Given the description of an element on the screen output the (x, y) to click on. 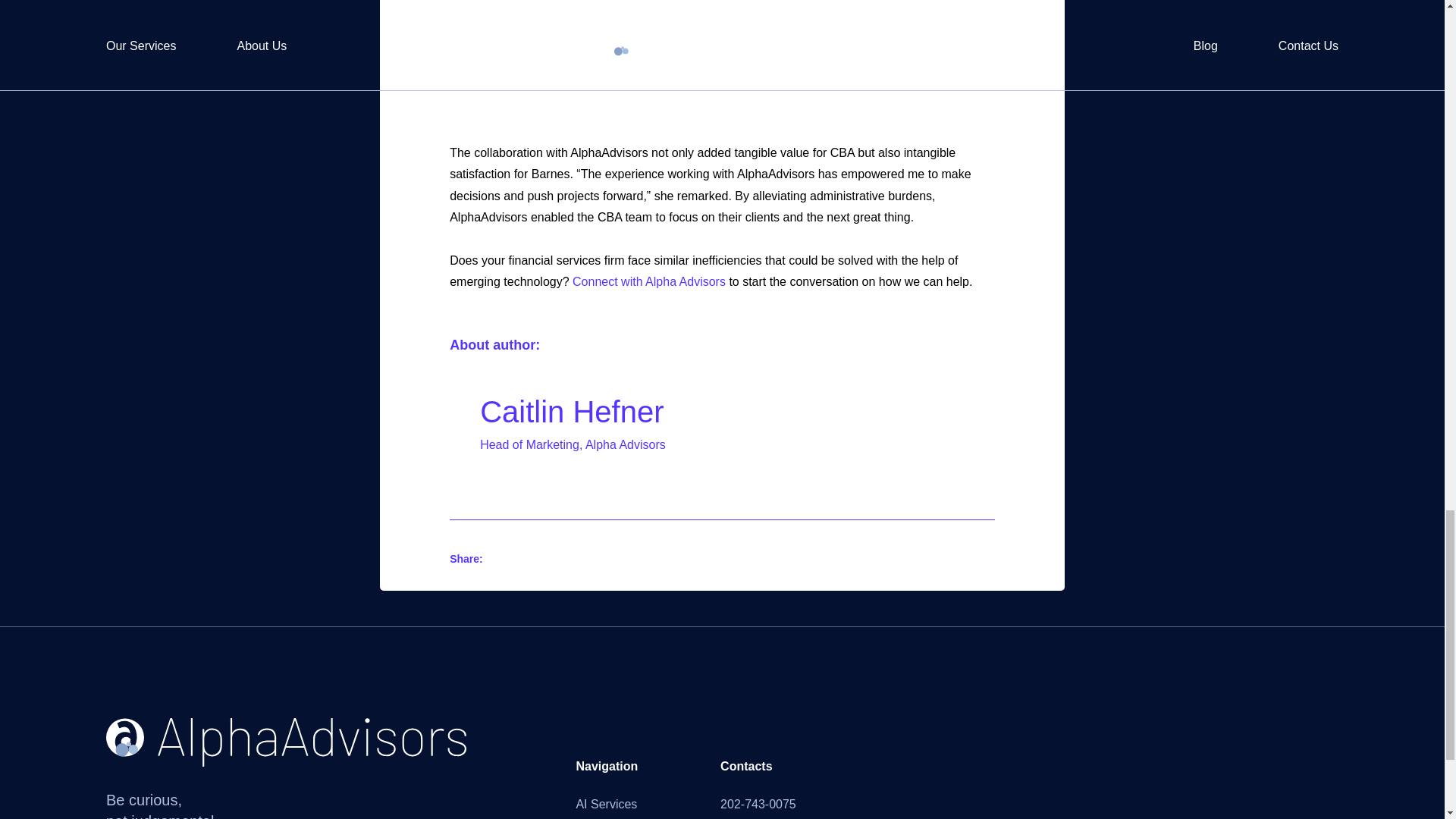
202-743-0075 (758, 803)
Connect with Alpha Advisors (648, 281)
YouTube video player (662, 61)
AI Services (606, 803)
